Given the description of an element on the screen output the (x, y) to click on. 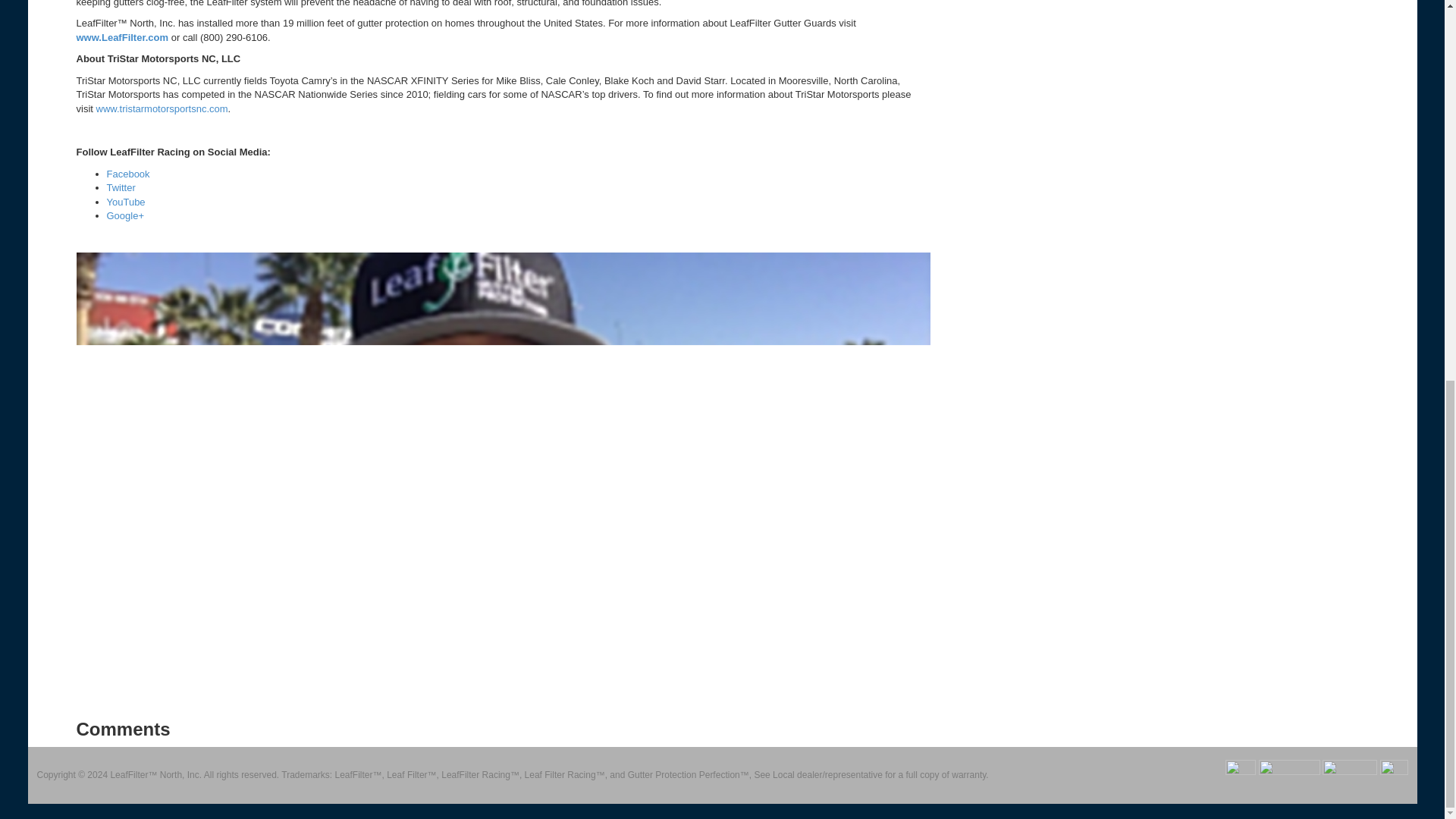
LeafFilter Racing Twitter (120, 187)
YouTube (125, 202)
www.tristarmotorsportsnc.com (161, 108)
www.LeafFilter.com (121, 37)
Facebook (127, 173)
Twitter (120, 187)
LeafFilter Racing Facebook (127, 173)
LeafFilter Racing Google Plus (125, 215)
LeafFilter Racing YouTube (125, 202)
